Given the description of an element on the screen output the (x, y) to click on. 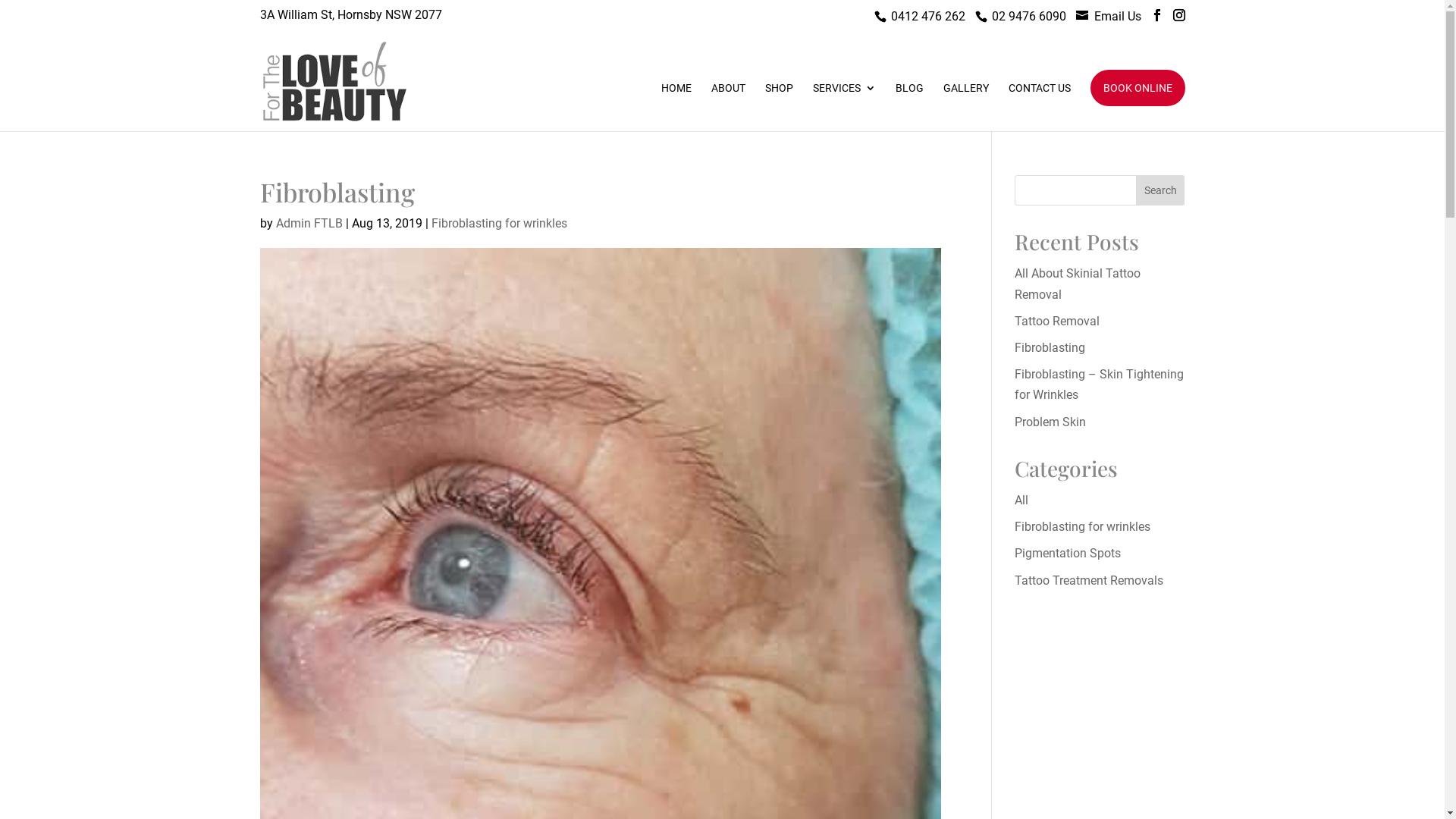
Fibroblasting for wrinkles Element type: text (498, 223)
HOME Element type: text (676, 106)
0412 476 262 Element type: text (927, 16)
All About Skinial Tattoo Removal Element type: text (1077, 283)
02 9476 6090 Element type: text (1028, 16)
All Element type: text (1021, 499)
SHOP Element type: text (778, 106)
Fibroblasting for wrinkles Element type: text (1082, 526)
Tattoo Treatment Removals Element type: text (1088, 580)
Problem Skin Element type: text (1049, 421)
BOOK ONLINE Element type: text (1137, 87)
CONTACT US Element type: text (1039, 106)
Admin FTLB Element type: text (309, 223)
SERVICES Element type: text (843, 106)
GALLERY Element type: text (965, 106)
Tattoo Removal Element type: text (1056, 320)
Search Element type: text (1160, 190)
Pigmentation Spots Element type: text (1067, 553)
Fibroblasting Element type: text (1049, 347)
BLOG Element type: text (908, 106)
Email Us Element type: text (1116, 16)
ABOUT Element type: text (728, 106)
